Given the description of an element on the screen output the (x, y) to click on. 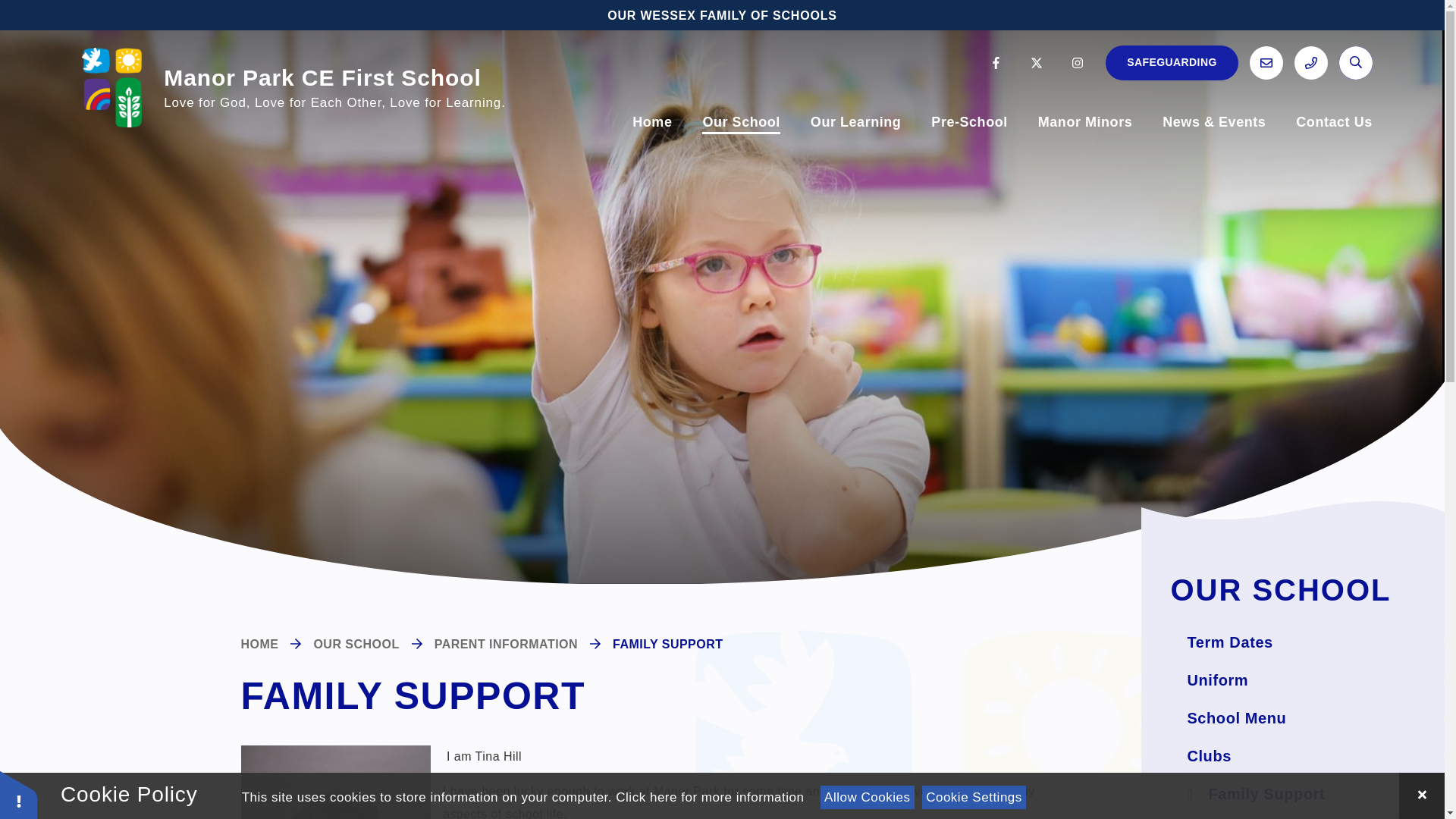
Our School (739, 122)
Search the website (1356, 62)
Home (651, 122)
SAFEGUARDING (1172, 62)
